Given the description of an element on the screen output the (x, y) to click on. 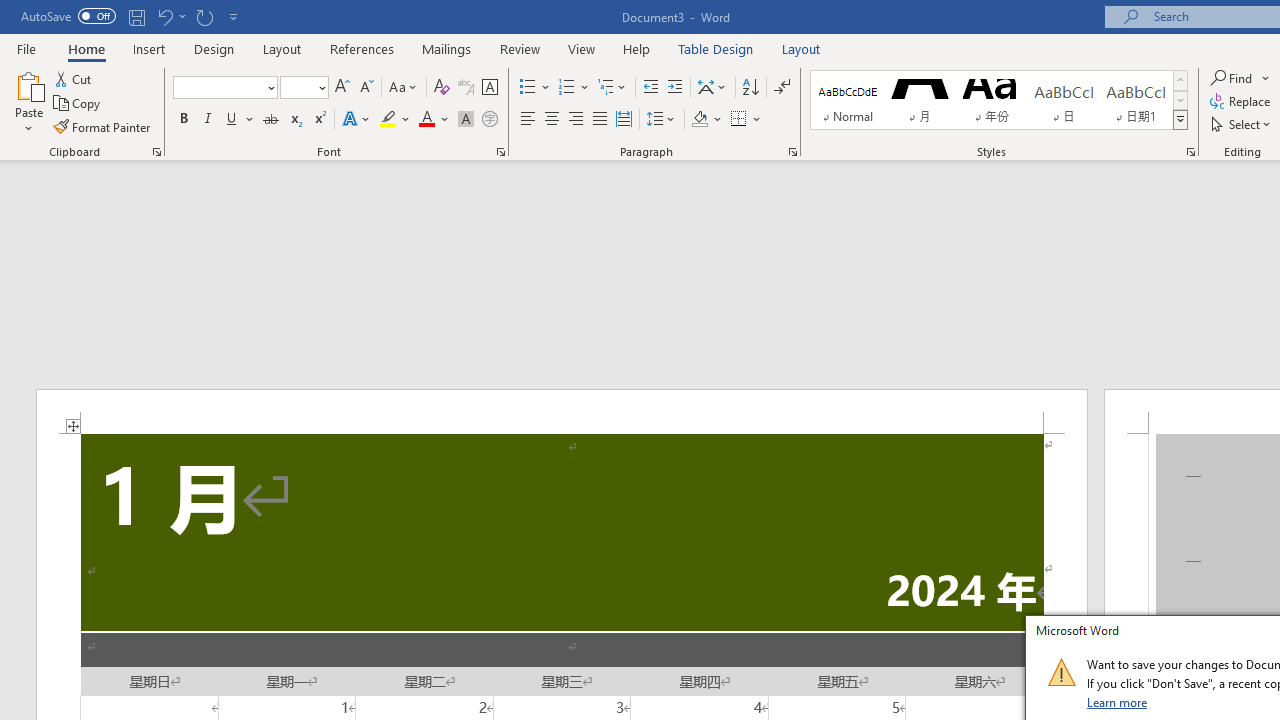
Bold (183, 119)
Sort... (750, 87)
